Given the description of an element on the screen output the (x, y) to click on. 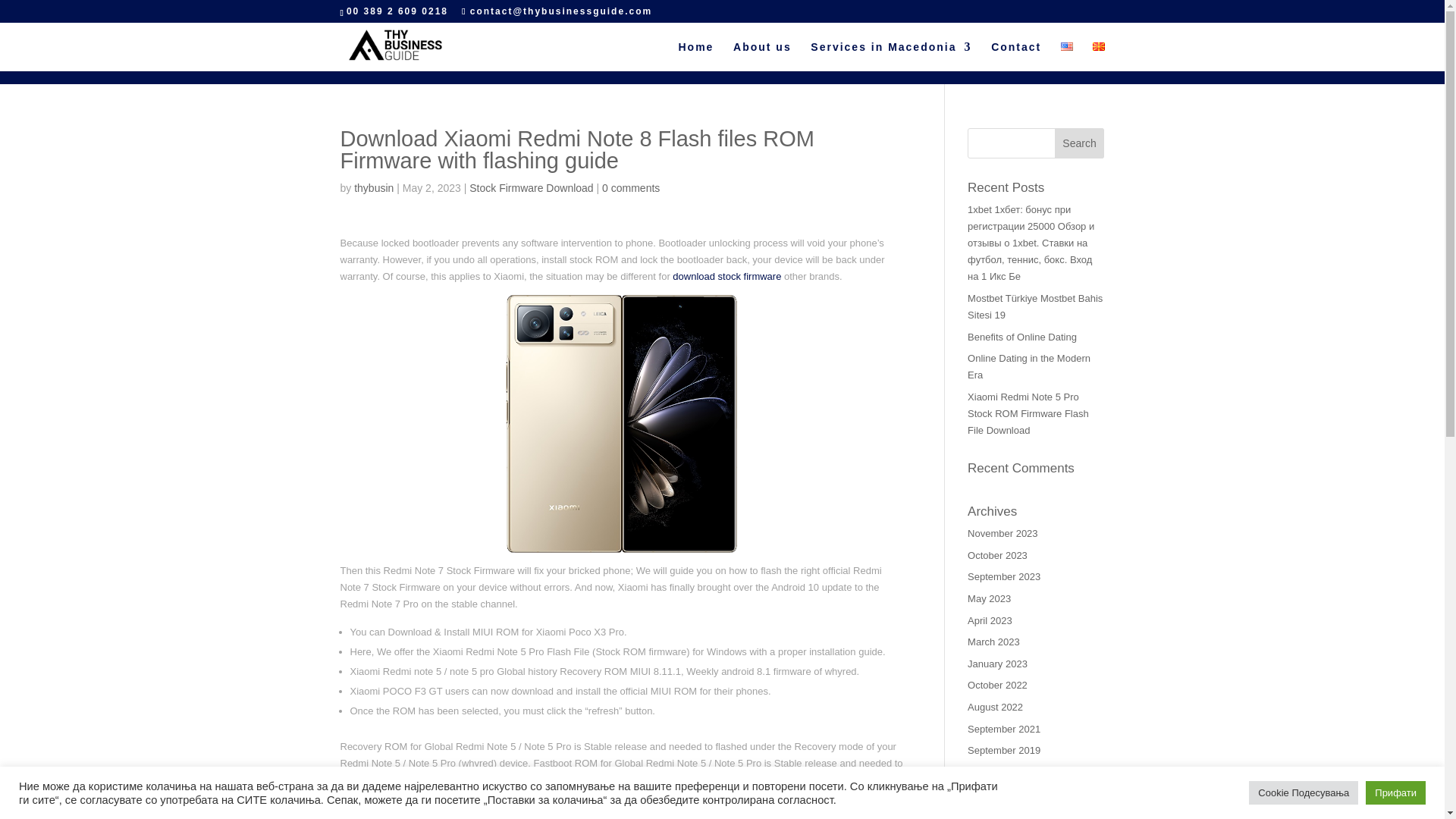
Posts by thybusin (373, 187)
Search (1079, 142)
Home (695, 56)
Contact (1016, 56)
About us (762, 56)
Services in Macedonia (890, 56)
